Given the description of an element on the screen output the (x, y) to click on. 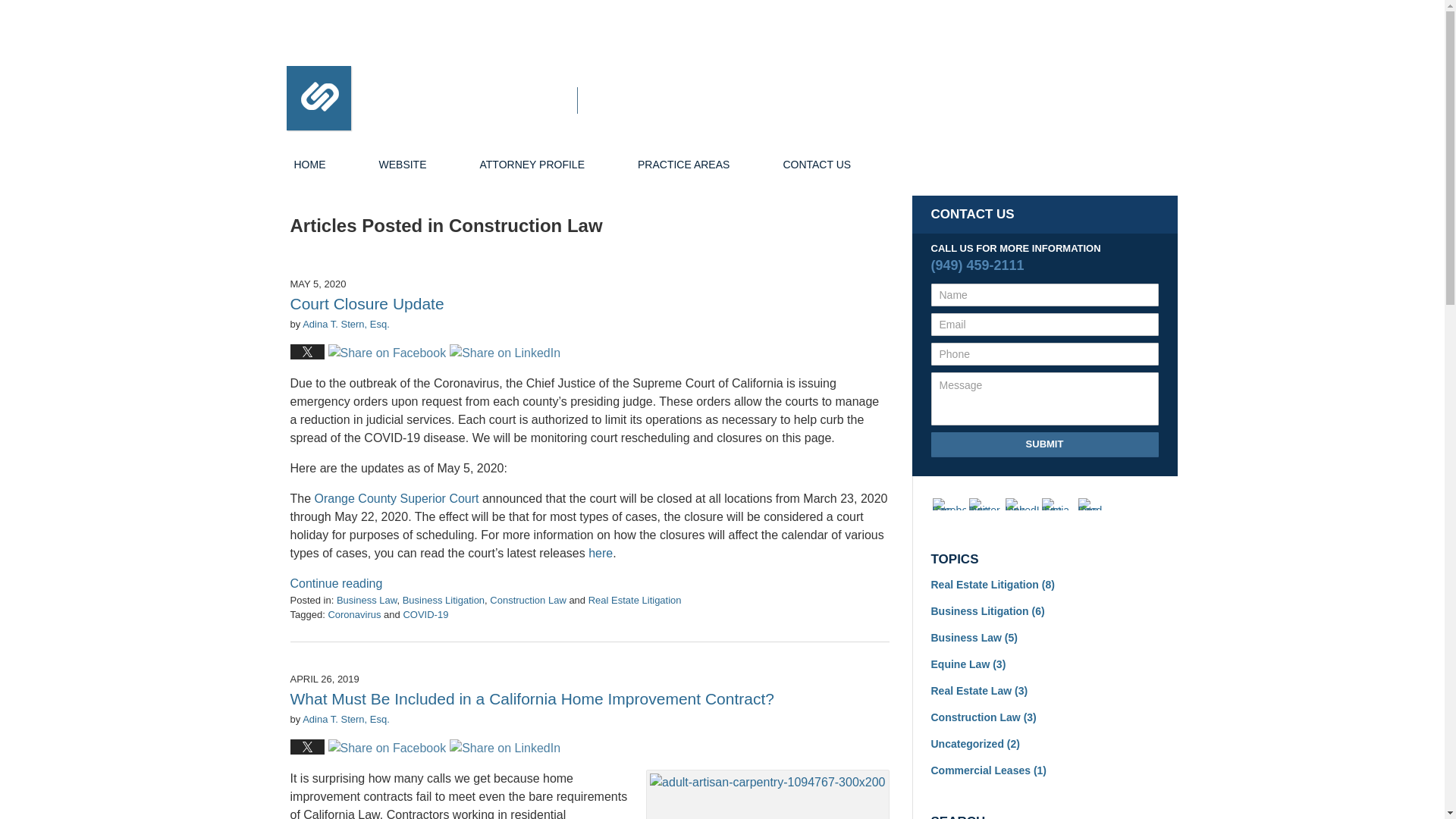
Coronavirus (353, 614)
COVID-19 (425, 614)
Business Law (366, 600)
Published By Adina Stern (1048, 104)
View all posts in Business Litigation (443, 600)
Permalink to Court Closure Update (366, 303)
Continue Reading Court Closure Update (335, 583)
Construction Law (527, 600)
View all posts in Construction Law (527, 600)
ATTORNEY PROFILE (531, 164)
Adina T. Stern, Esq. (346, 324)
PRACTICE AREAS (683, 164)
View all posts in Real Estate Litigation (634, 600)
HOME (309, 164)
Continue reading (335, 583)
